Given the description of an element on the screen output the (x, y) to click on. 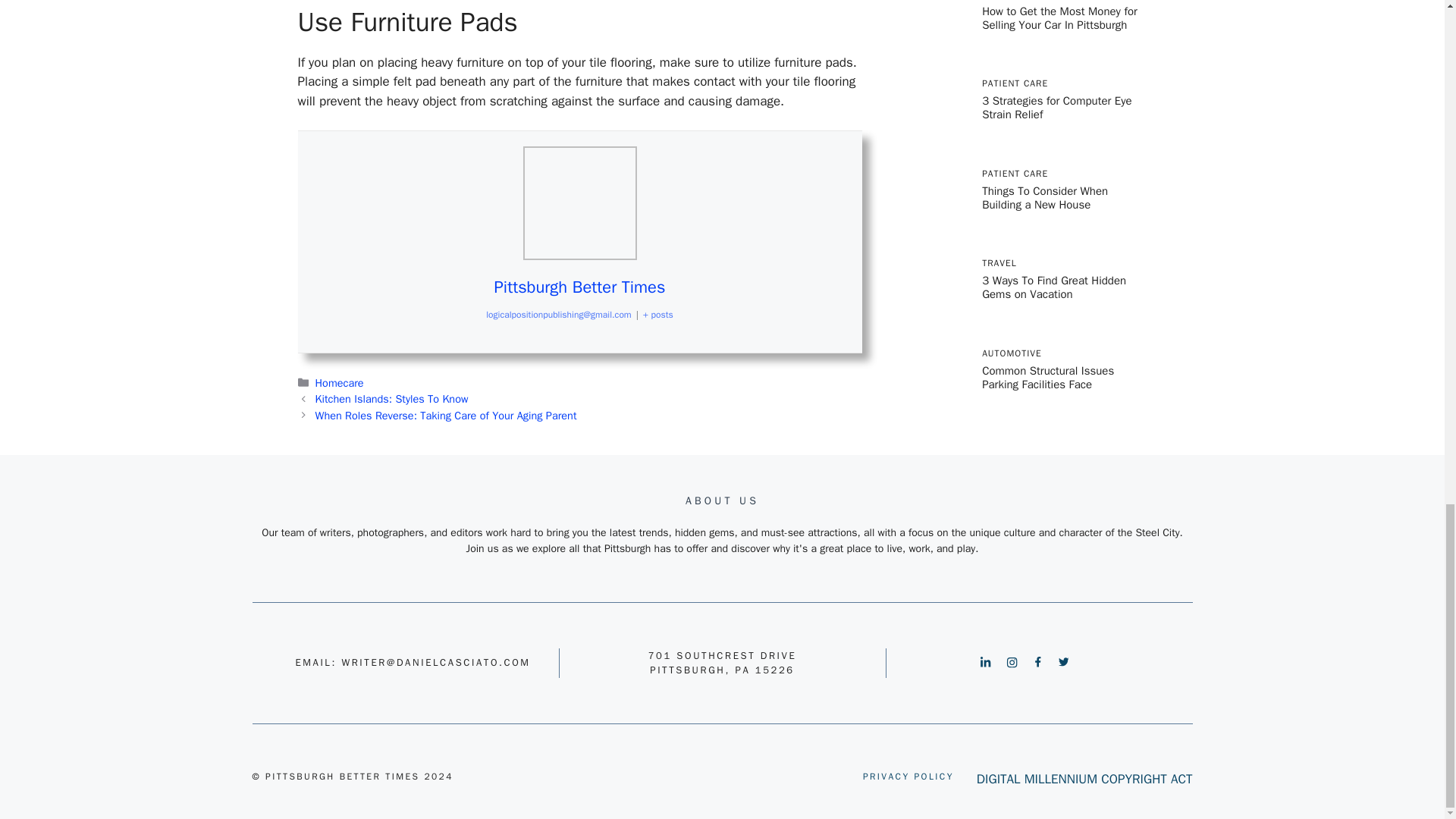
Homecare (339, 382)
Tips On Preventing Floor Tiles From Getting Damaged 1 (579, 203)
Kitchen Islands: Styles To Know (391, 398)
When Roles Reverse: Taking Care of Your Aging Parent (445, 415)
Pittsburgh Better Times (580, 287)
